Given the description of an element on the screen output the (x, y) to click on. 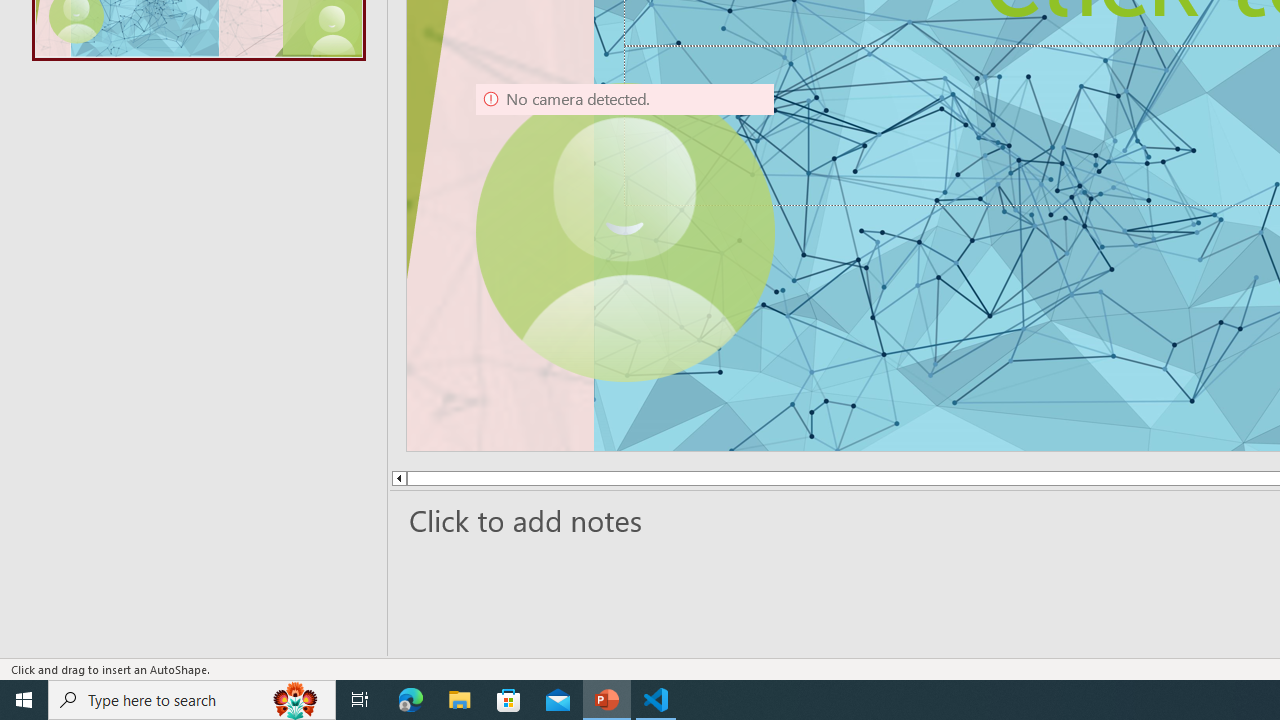
Camera 9, No camera detected. (624, 232)
